Given the description of an element on the screen output the (x, y) to click on. 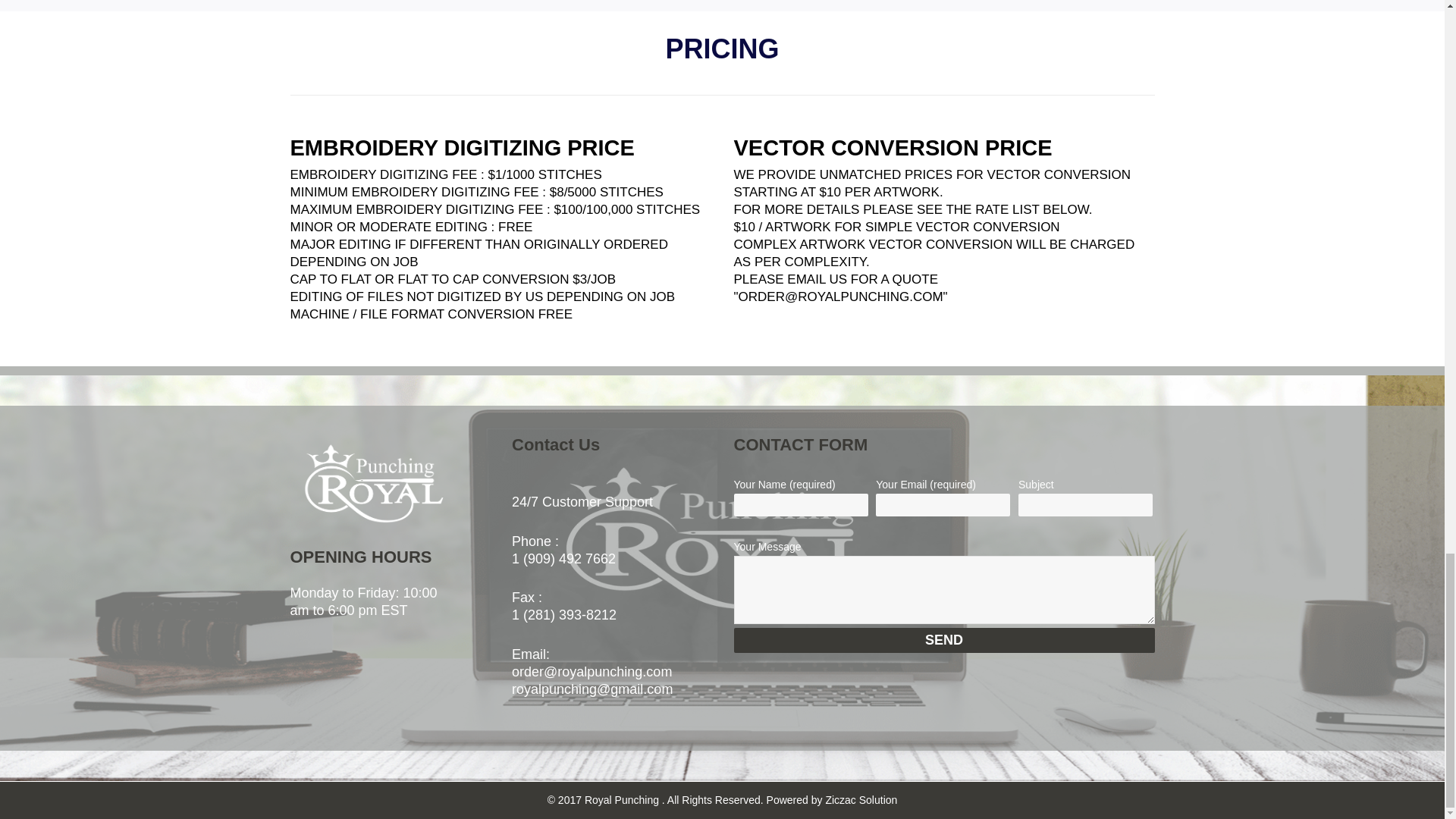
Send (943, 640)
Send (943, 640)
Ziczac Solution (860, 799)
